Given the description of an element on the screen output the (x, y) to click on. 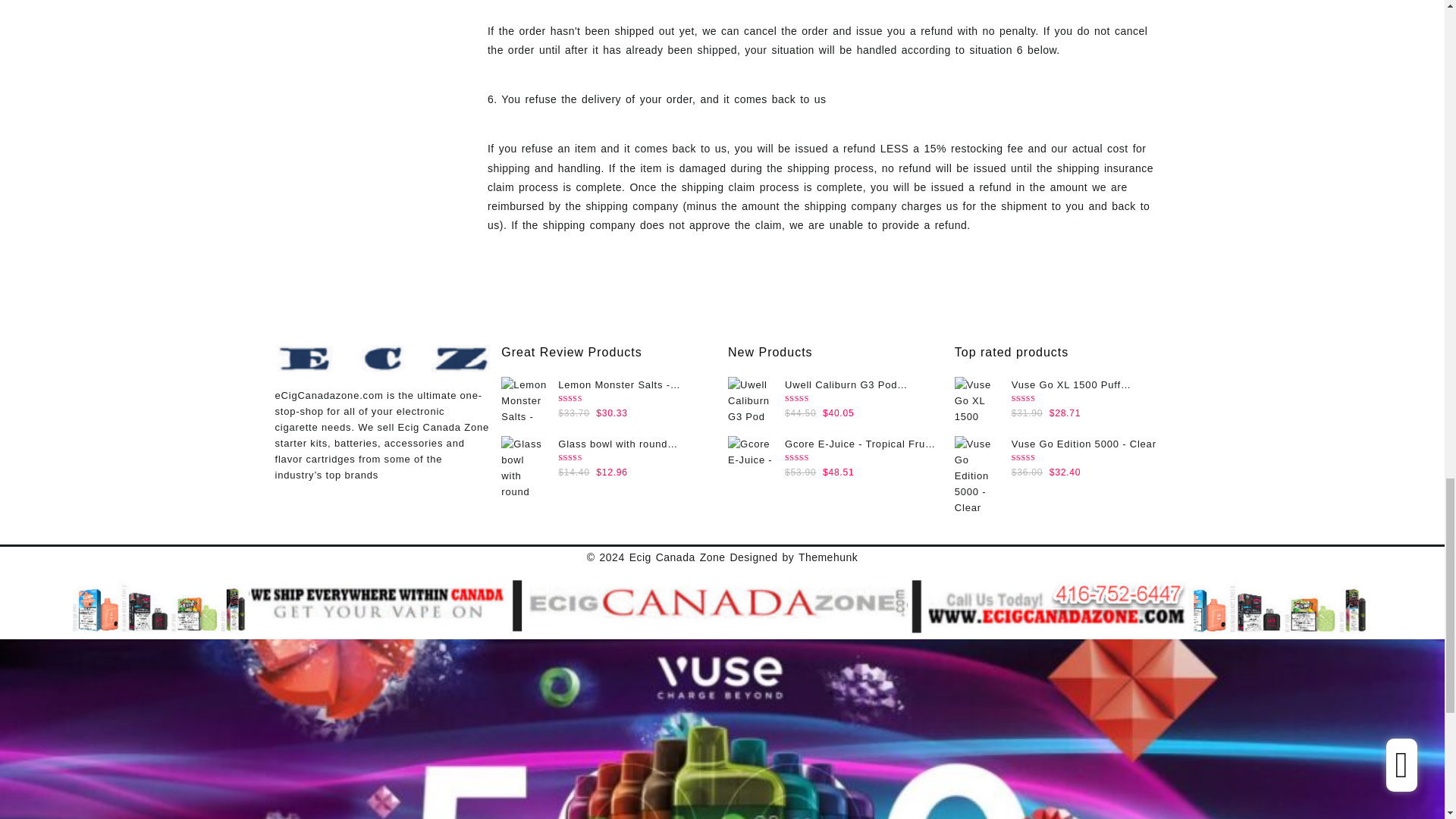
Uwell Caliburn G3 Pod System Kit 25W 900mAh (750, 399)
Vuse Go Edition 5000 - Clear (977, 477)
Vuse Go XL 1500 Puff Disposable Vape Spearmint Ice 20mg (977, 399)
Gcore E-Juice - Tropical Fruit C. (750, 450)
Lemon Monster Salts - Blueberry Lemon (523, 399)
